Given the description of an element on the screen output the (x, y) to click on. 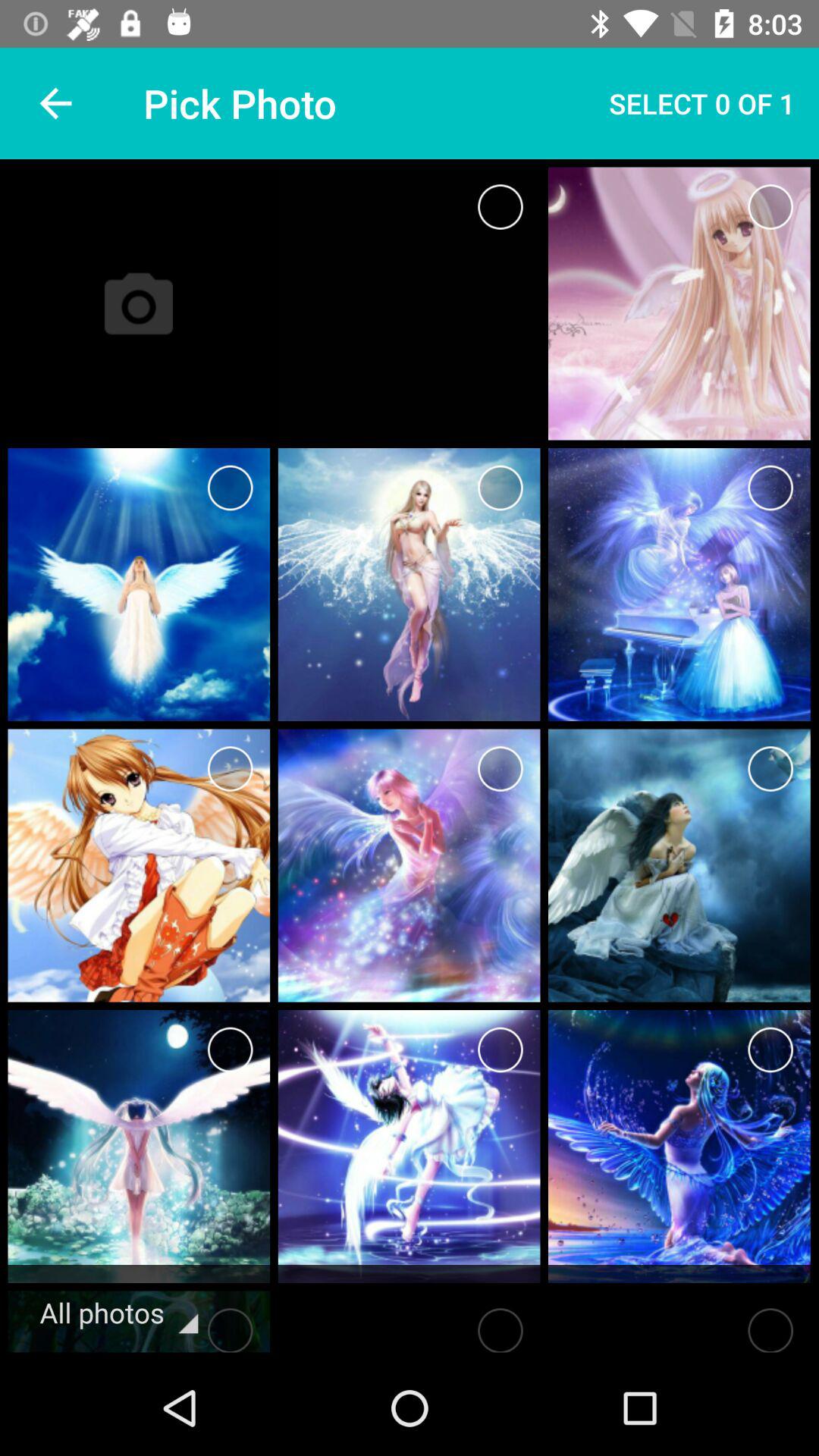
choose this photo (770, 206)
